Given the description of an element on the screen output the (x, y) to click on. 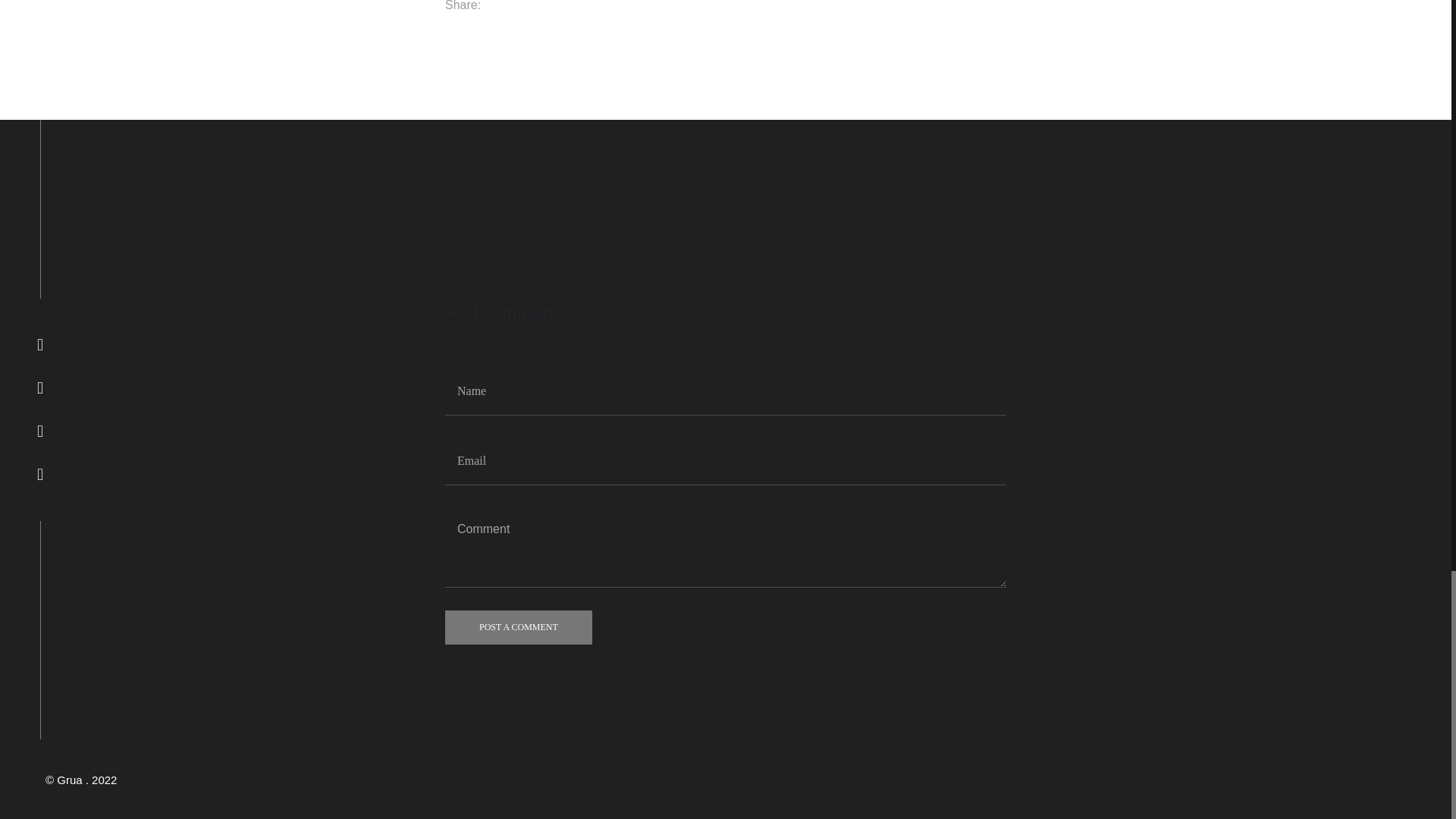
POST A COMMENT (518, 627)
